Given the description of an element on the screen output the (x, y) to click on. 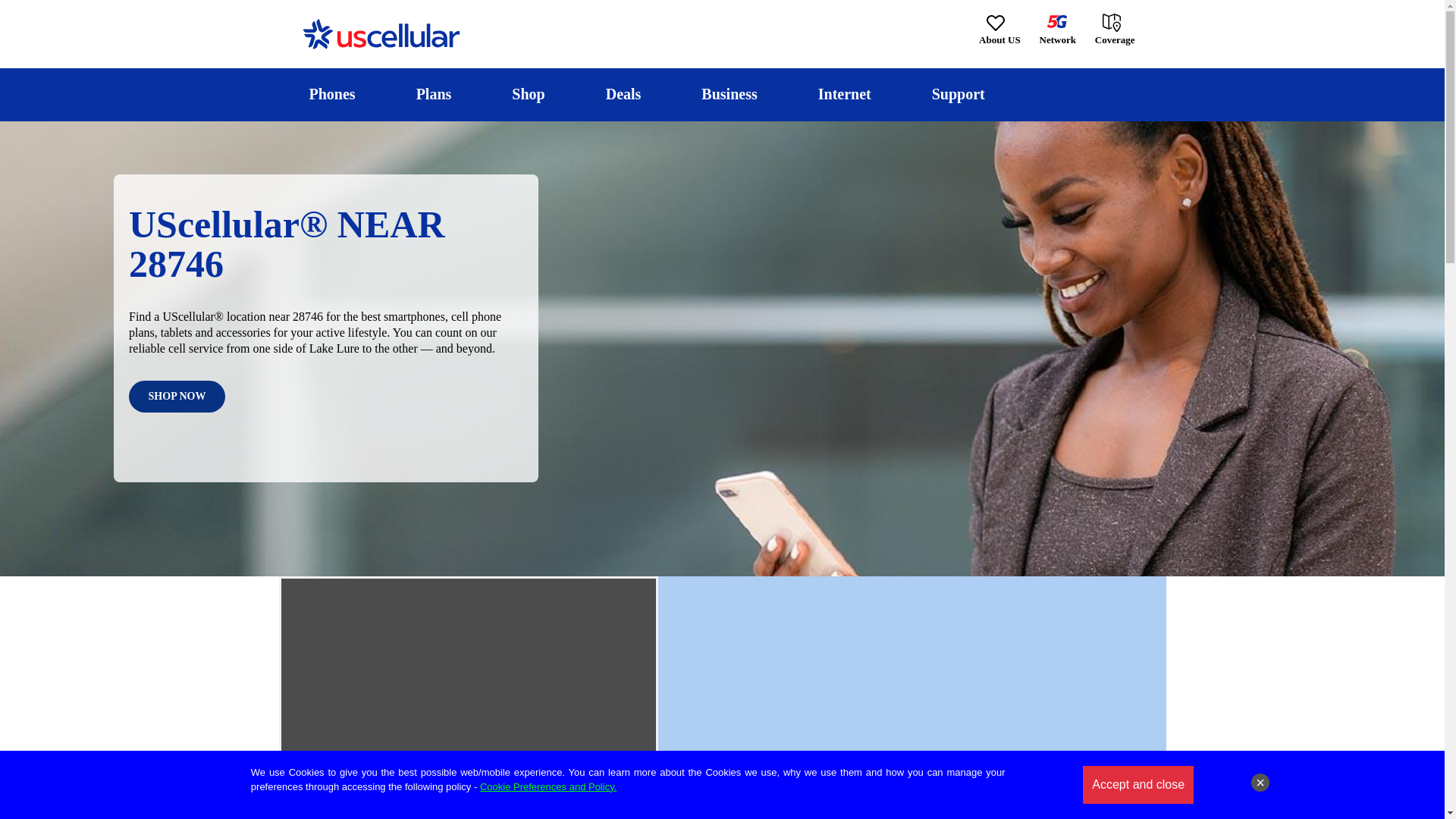
Business (729, 94)
Shop (528, 94)
Network (1057, 30)
Plans (433, 94)
Support (957, 94)
SHOP NOW (177, 396)
Phones (332, 94)
Coverage (1115, 29)
Deals (623, 94)
Internet (844, 94)
About US (999, 30)
